Given the description of an element on the screen output the (x, y) to click on. 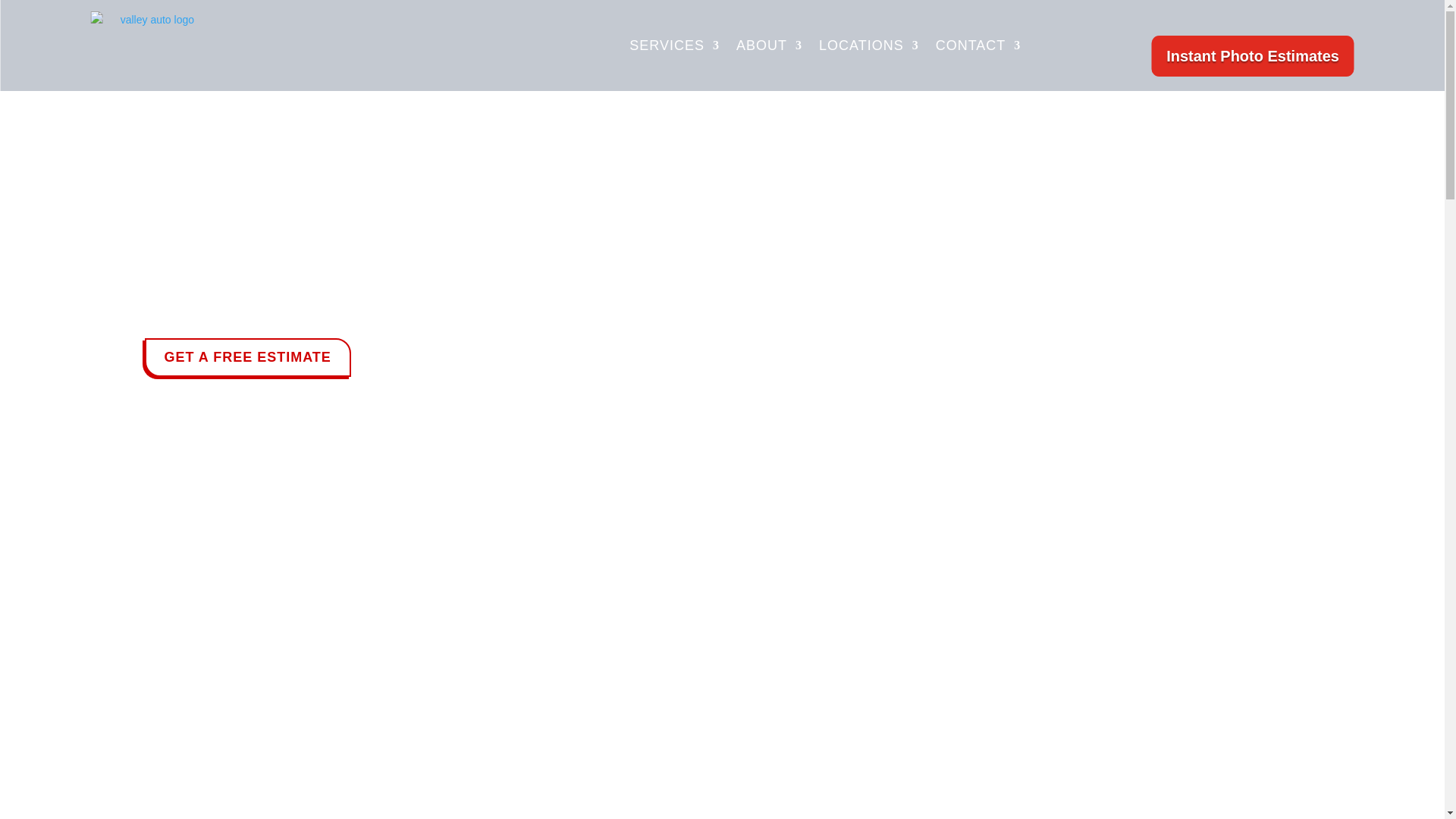
GET A FREE ESTIMATE (247, 357)
LOCATIONS (868, 45)
CONTACT (979, 45)
Instant Photo Estimates (1252, 56)
SERVICES (673, 45)
ABOUT (769, 45)
